Given the description of an element on the screen output the (x, y) to click on. 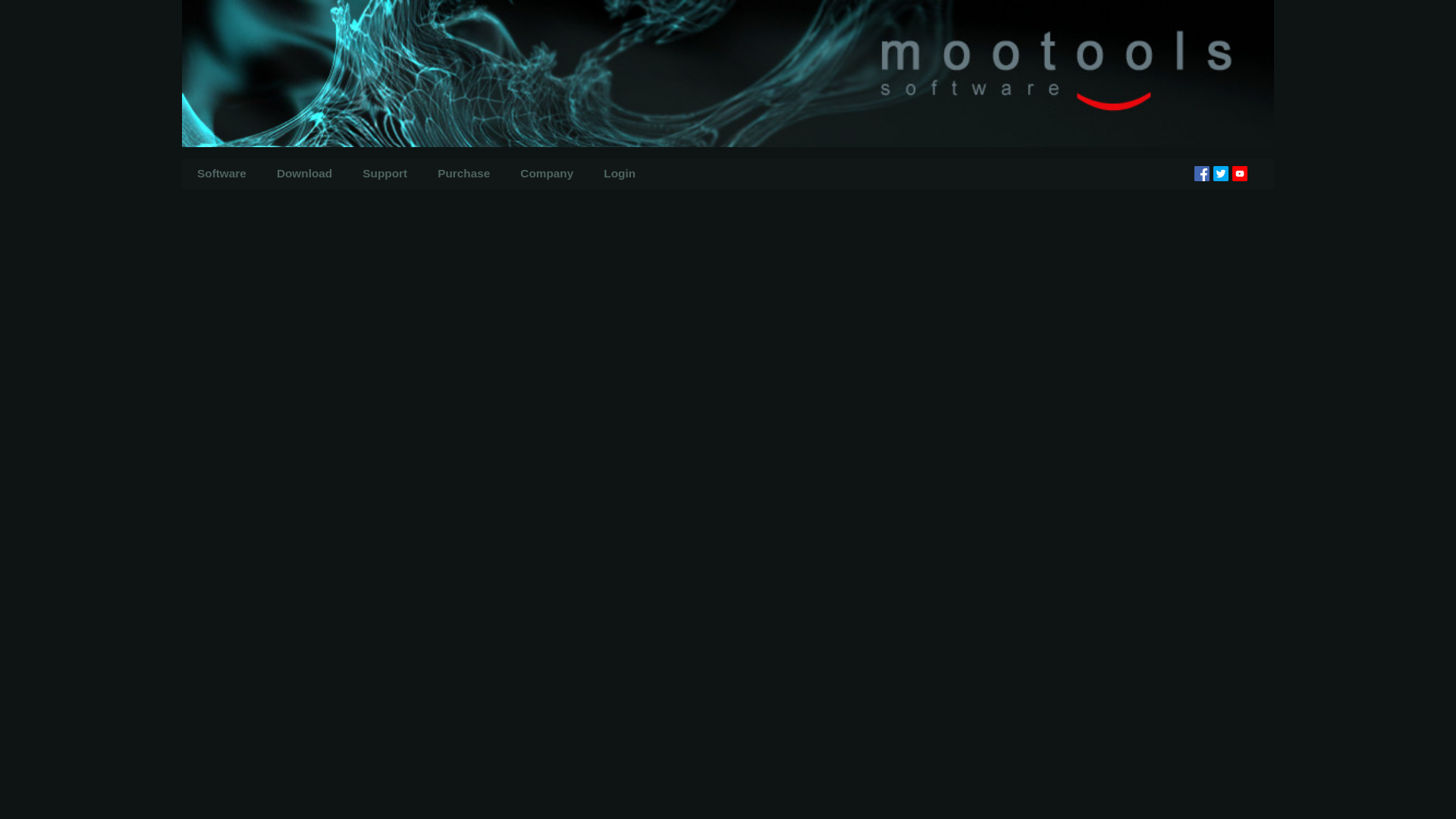
Follow us on Twitter (1220, 173)
Follow us on Facebook (1201, 173)
Mootools channel (1239, 173)
